Given the description of an element on the screen output the (x, y) to click on. 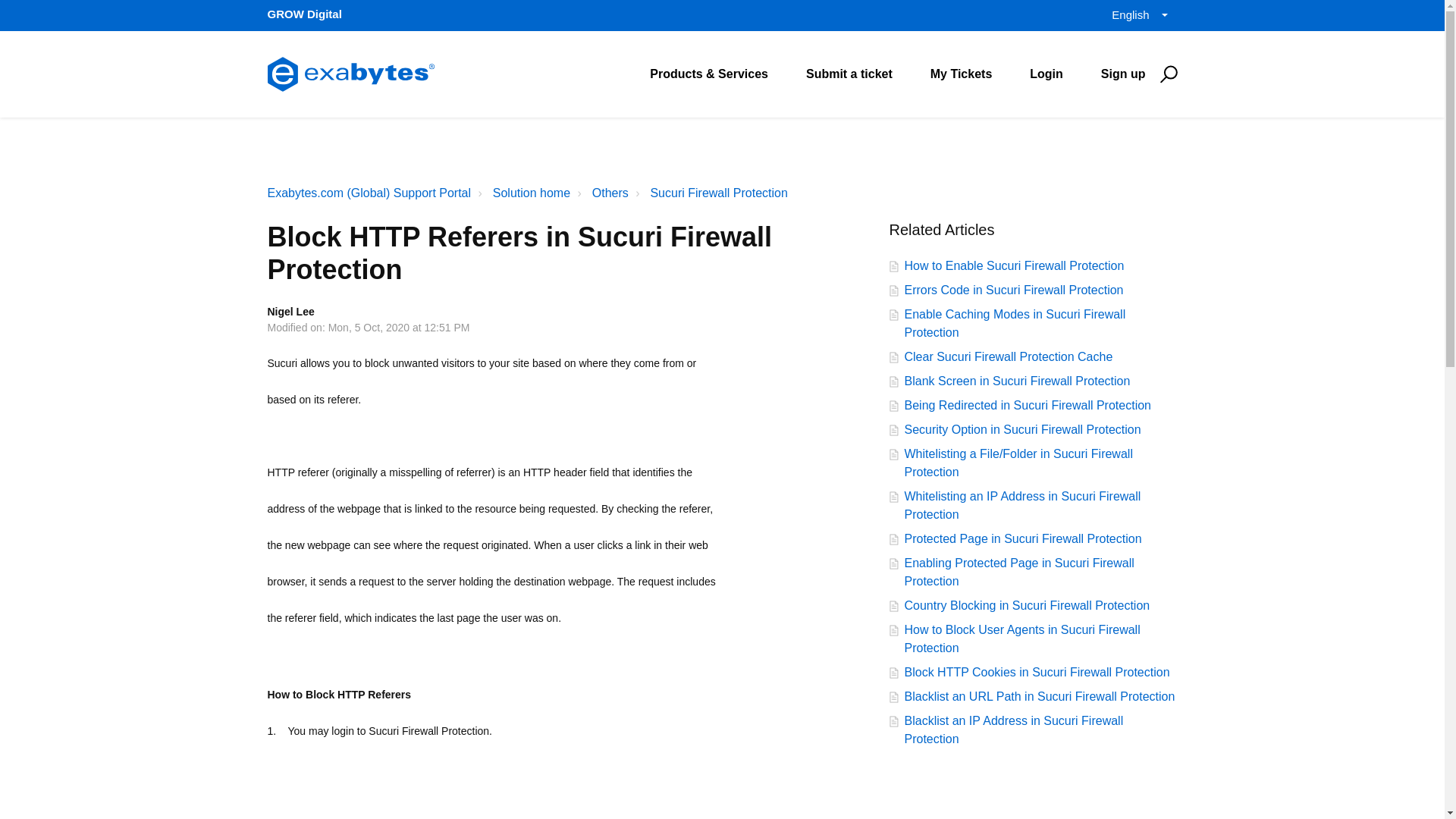
Submit a ticket (849, 72)
Sucuri Firewall Protection (718, 192)
Others (610, 192)
Sign up (1123, 72)
Login (1046, 72)
Enable Caching Modes in Sucuri Firewall Protection (1014, 323)
Blacklist an IP Address in Sucuri Firewall Protection (1013, 730)
How to Block User Agents in Sucuri Firewall Protection (1022, 639)
Others (600, 192)
Whitelisting an IP Address in Sucuri Firewall Protection (1022, 505)
Blank Screen in Sucuri Firewall Protection (1016, 381)
Solution home (531, 192)
How to Enable Sucuri Firewall Protection (1014, 265)
Clear Sucuri Firewall Protection Cache (1008, 356)
Protected Page in Sucuri Firewall Protection (1022, 539)
